Given the description of an element on the screen output the (x, y) to click on. 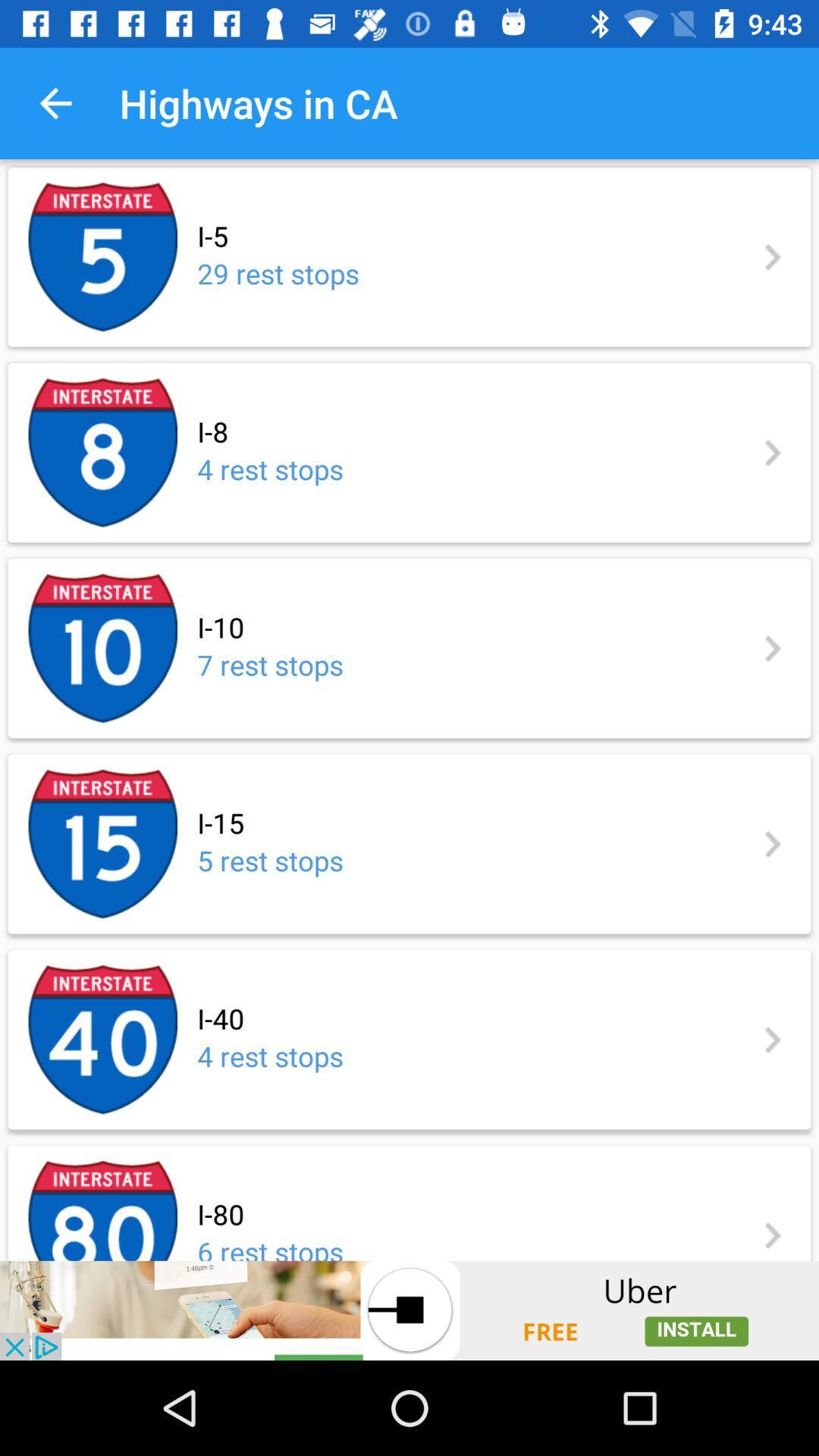
advertisement (409, 1310)
